Given the description of an element on the screen output the (x, y) to click on. 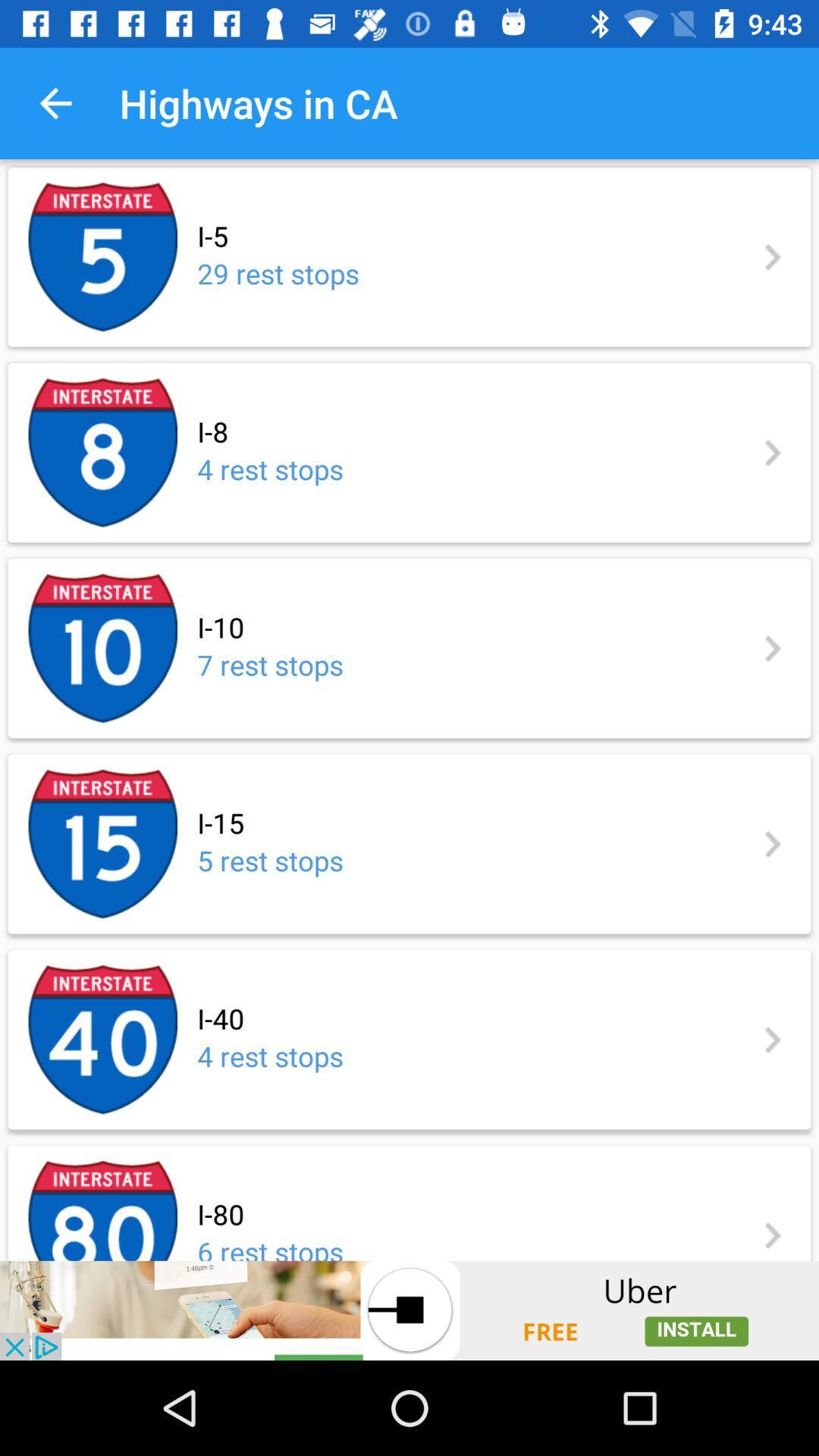
advertisement (409, 1310)
